Given the description of an element on the screen output the (x, y) to click on. 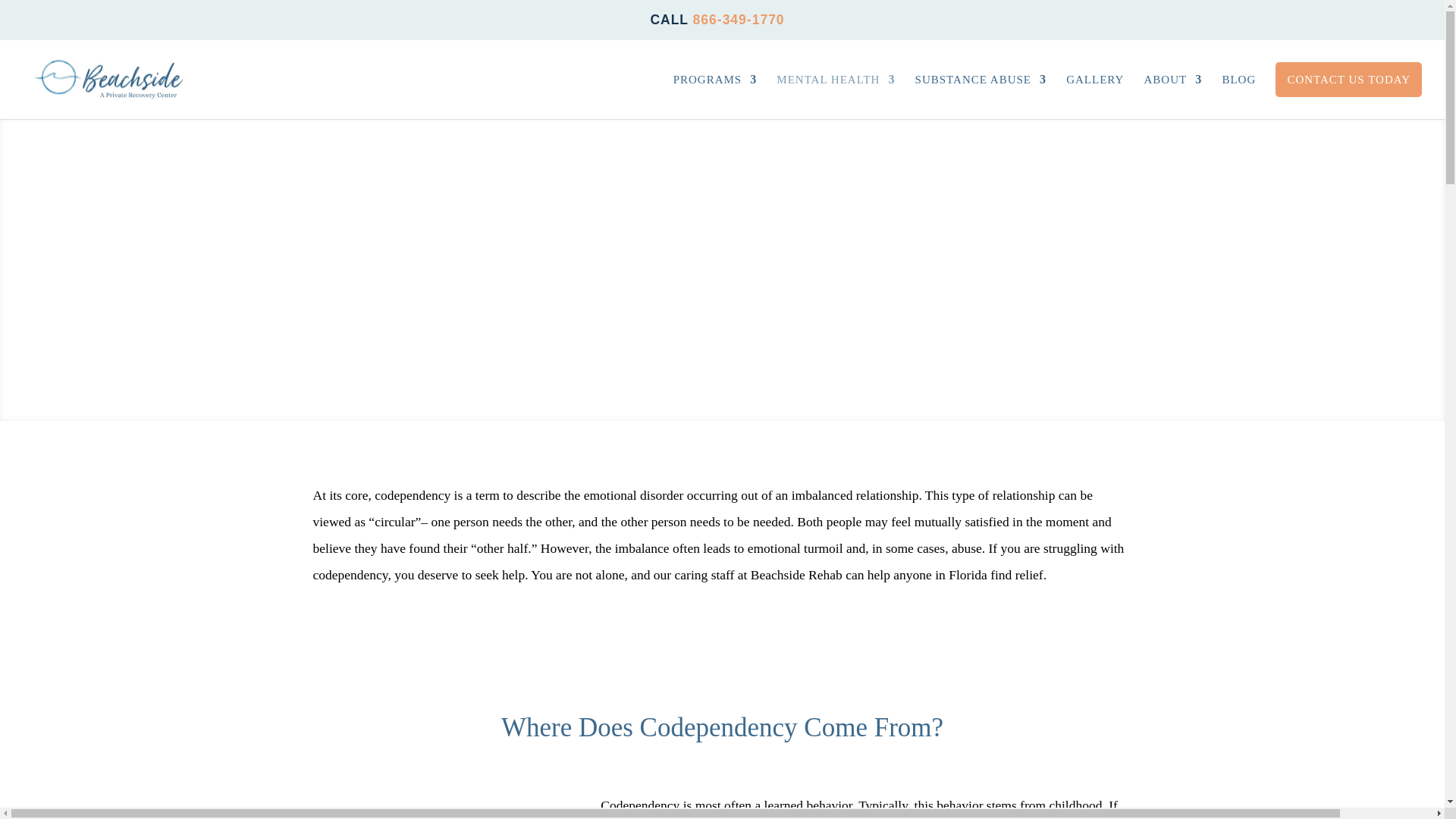
codependency after treatment (433, 805)
SUBSTANCE ABUSE (980, 96)
GALLERY (1094, 96)
PROGRAMS (714, 96)
866-349-1770 (738, 19)
MENTAL HEALTH (835, 96)
ABOUT (1173, 96)
